Given the description of an element on the screen output the (x, y) to click on. 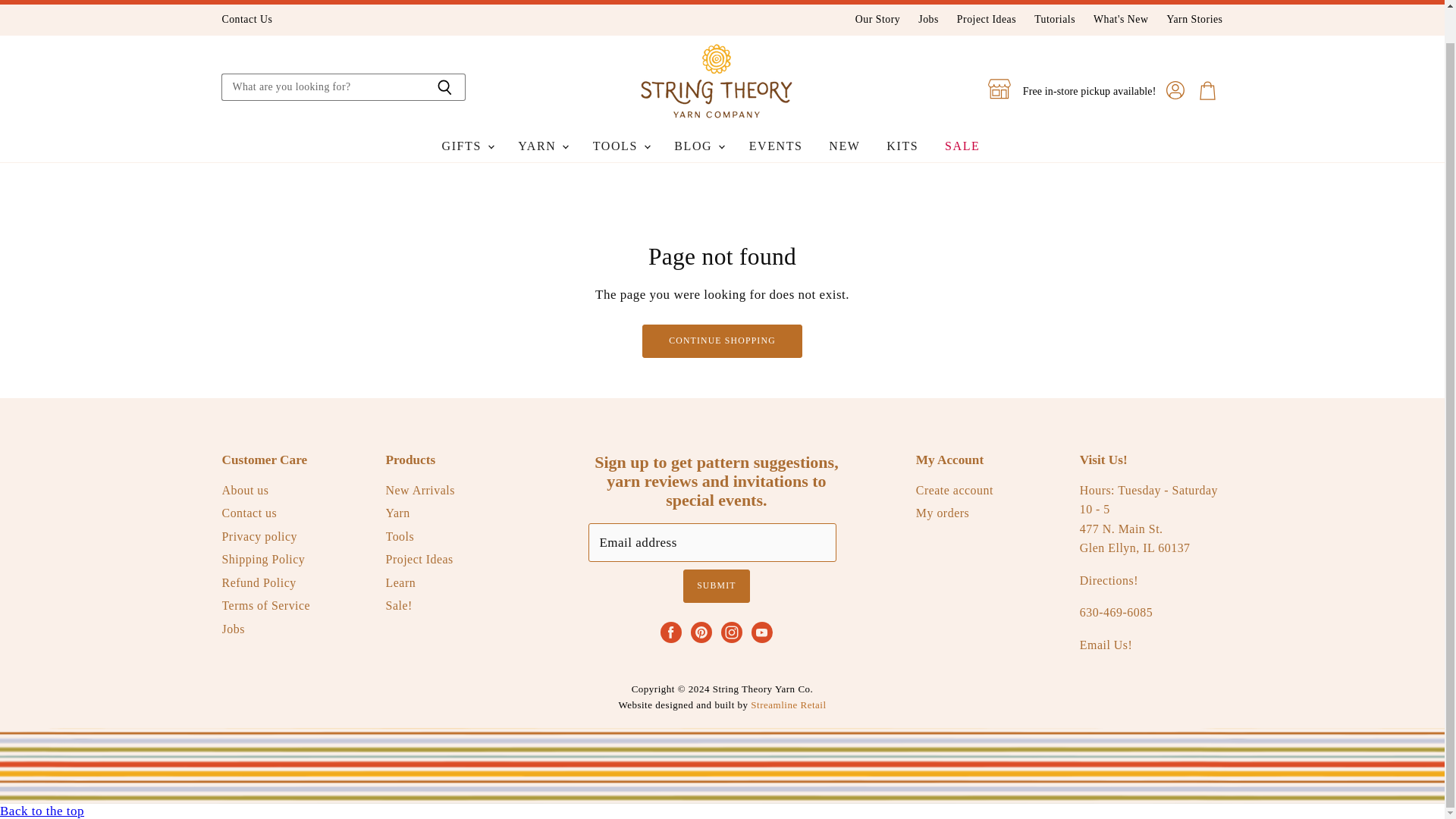
Facebook (671, 632)
Youtube (762, 632)
tel:630-469-6085 (1116, 612)
Our Story (877, 19)
Contact Us (246, 19)
Store icon (999, 88)
Jobs (928, 19)
What's New (1120, 19)
GIFTS (466, 145)
Yarn Stories (1194, 19)
View cart (1207, 90)
Instagram (731, 632)
Back to the top (42, 810)
Tutorials (1054, 19)
Pinterest (700, 632)
